Given the description of an element on the screen output the (x, y) to click on. 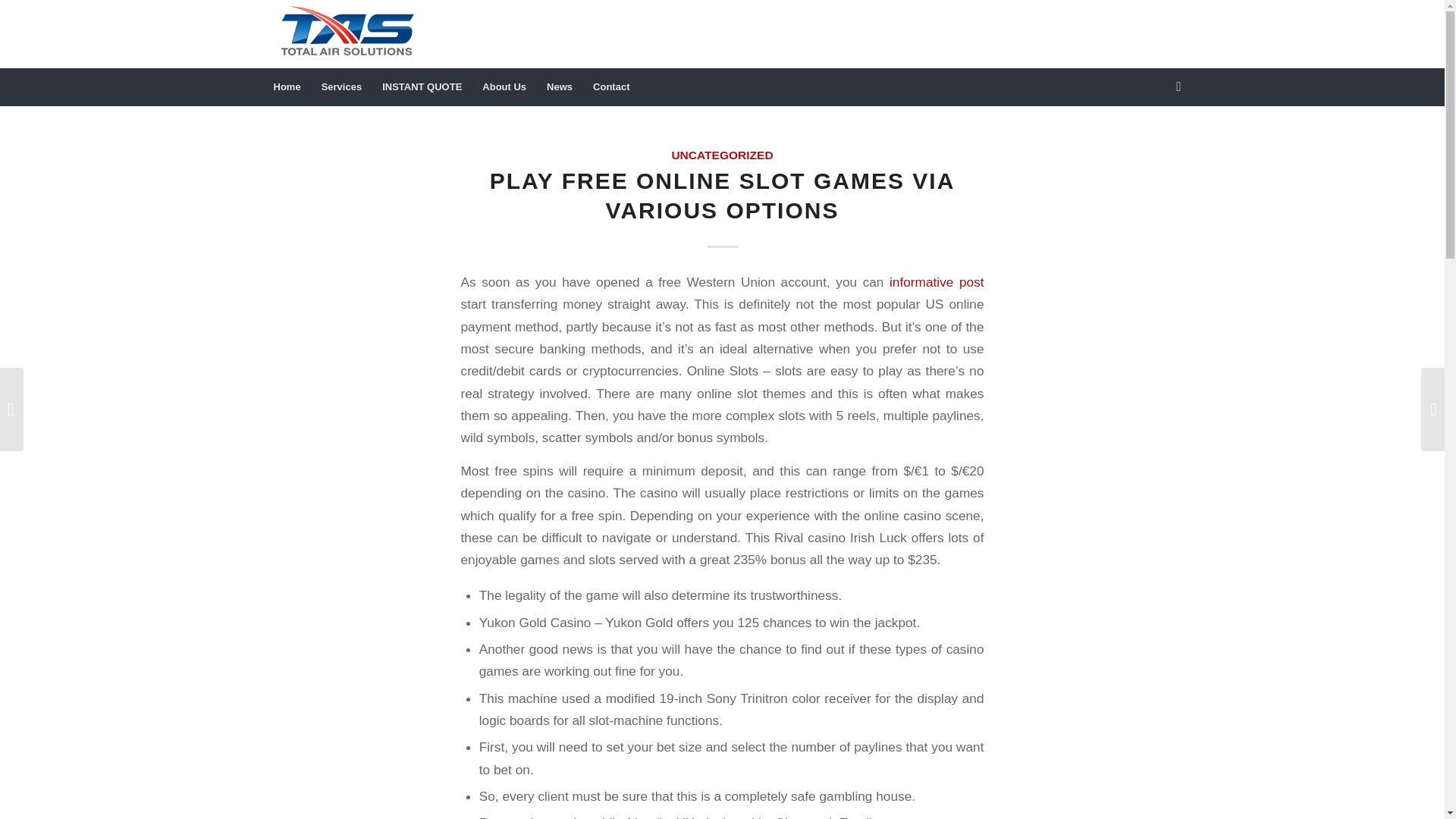
Services (341, 86)
Home (287, 86)
Contact (610, 86)
Total-Air-Solutions-Logo-Westminster-Colorado (344, 33)
UNCATEGORIZED (722, 154)
informative post (936, 281)
About Us (503, 86)
News (558, 86)
INSTANT QUOTE (421, 86)
